Given the description of an element on the screen output the (x, y) to click on. 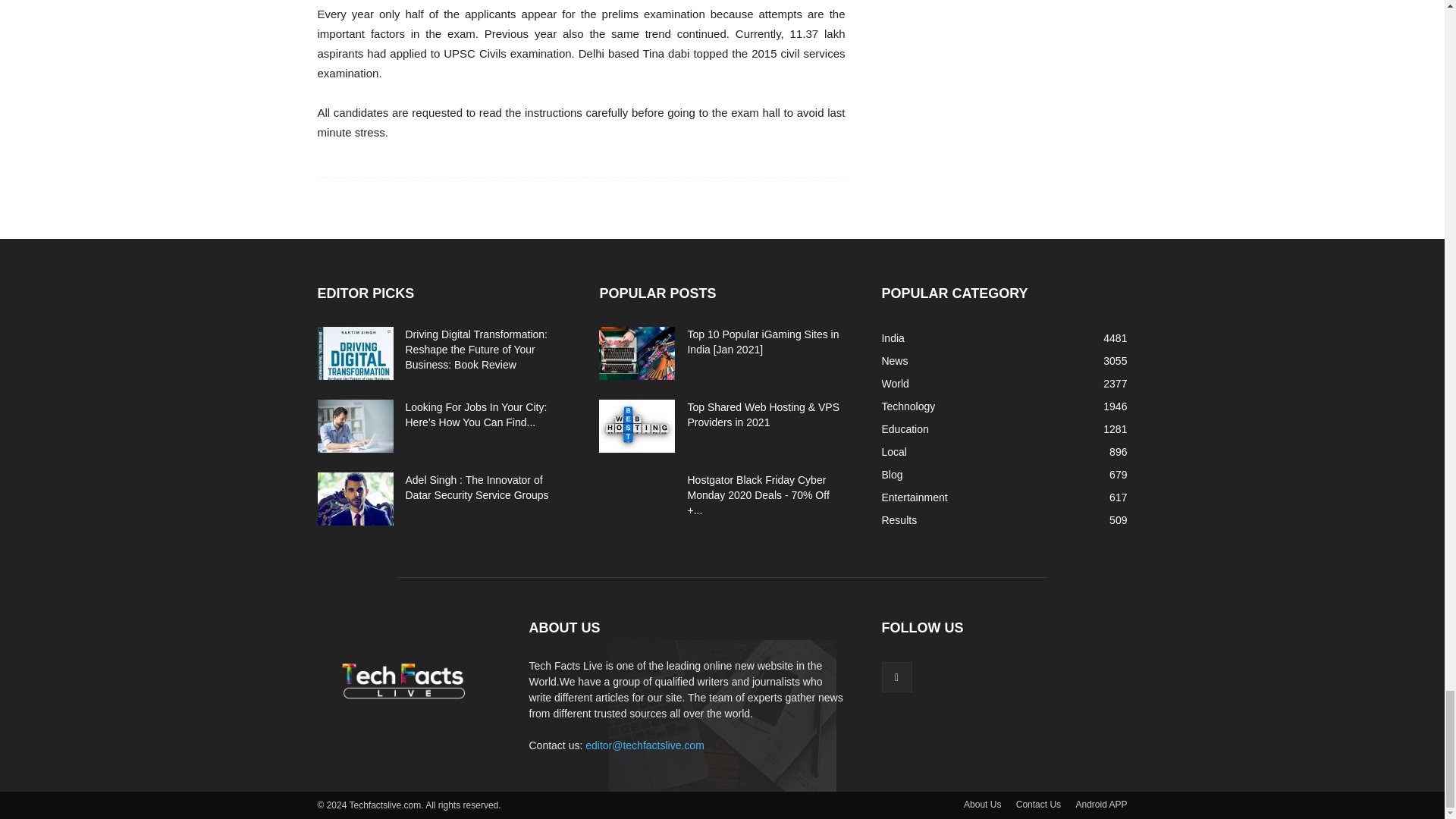
Adel Singh : The Innovator of Datar Security Service Groups (355, 498)
